Given the description of an element on the screen output the (x, y) to click on. 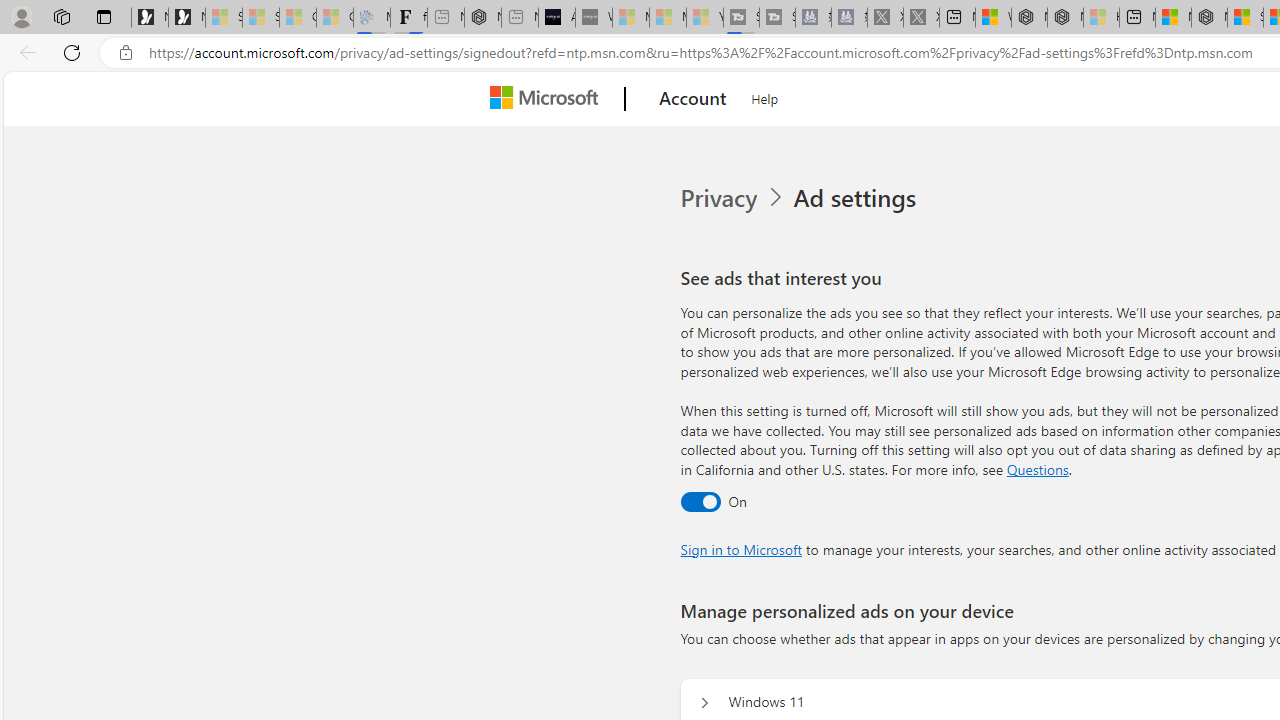
Ad settings toggle (699, 501)
Manage personalized ads on your device Windows 11 (704, 702)
Microsoft Start Sports - Sleeping (630, 17)
Sign in to Microsoft (740, 548)
Ad settings (858, 197)
Help (765, 96)
Microsoft Start - Sleeping (668, 17)
What's the best AI voice generator? - voice.ai - Sleeping (593, 17)
Privacy (720, 197)
